Given the description of an element on the screen output the (x, y) to click on. 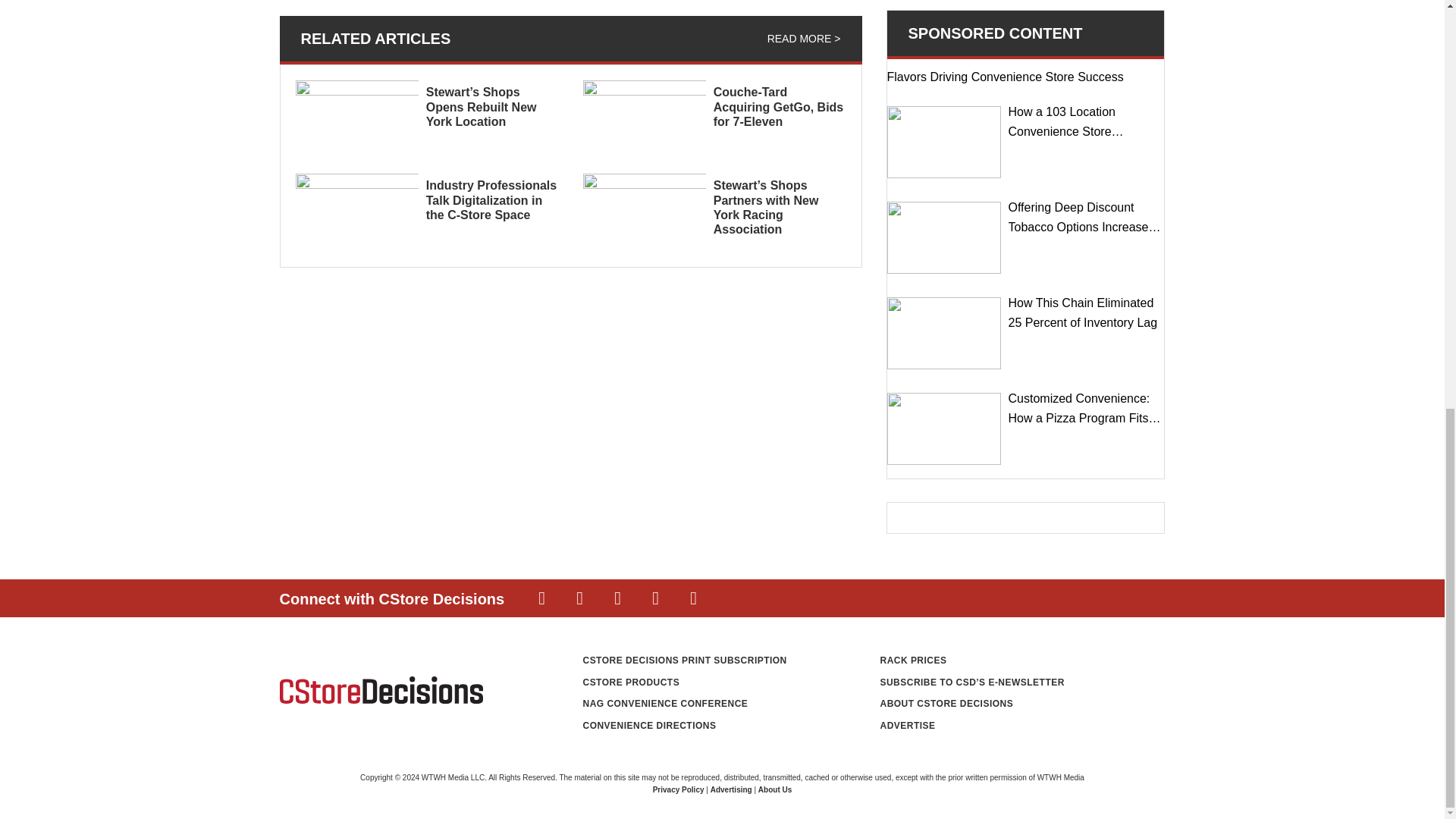
How a 103 Location Convenience Store Enhanced Operations (943, 142)
How This Chain Eliminated 25 Percent of Inventory Lag (943, 333)
Offering Deep Discount Tobacco Options Increases Revenue (943, 237)
